Given the description of an element on the screen output the (x, y) to click on. 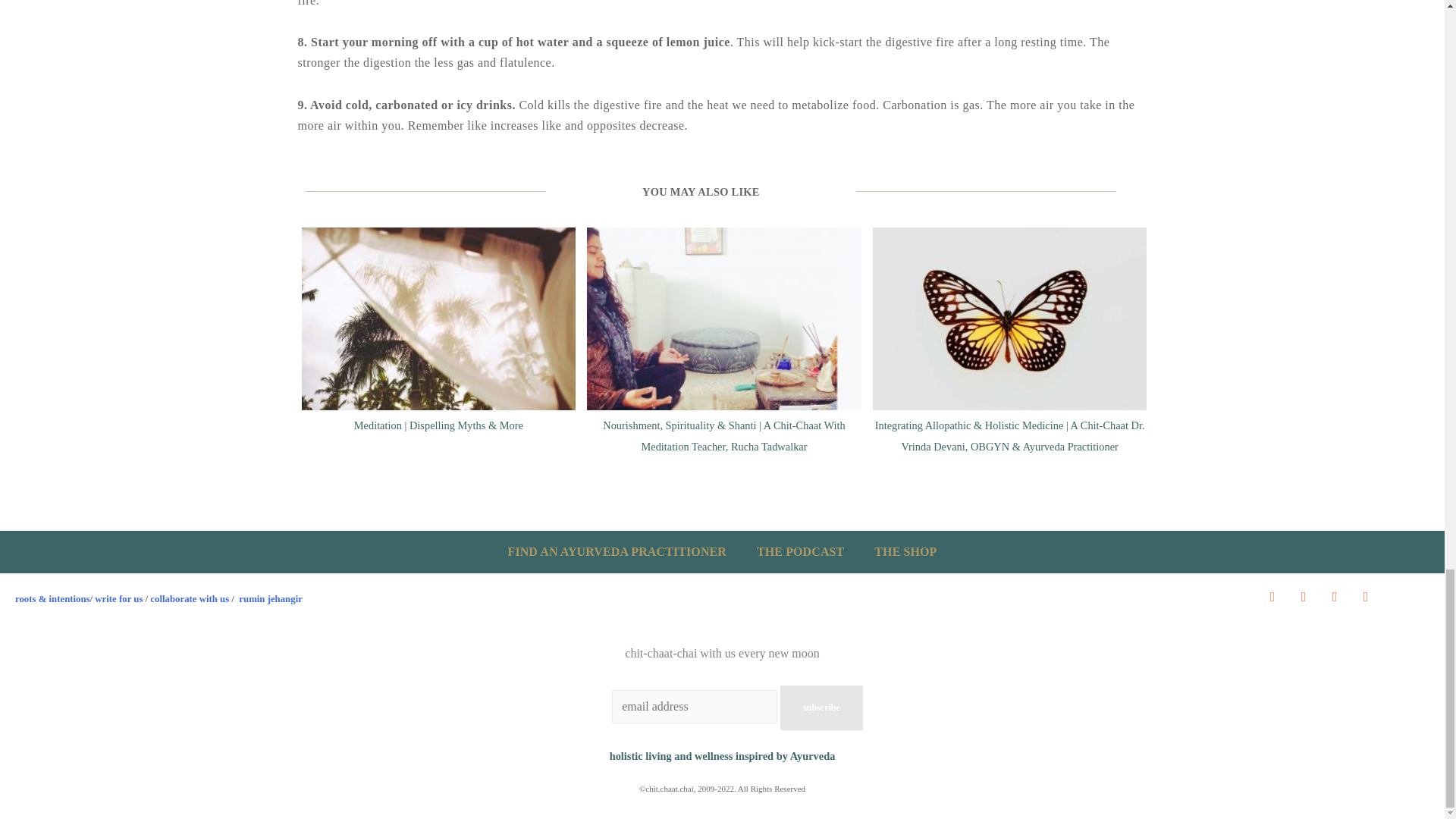
FIND AN AYURVEDA PRACTITIONER (617, 551)
subscribe (821, 707)
THE PODCAST (800, 551)
